Given the description of an element on the screen output the (x, y) to click on. 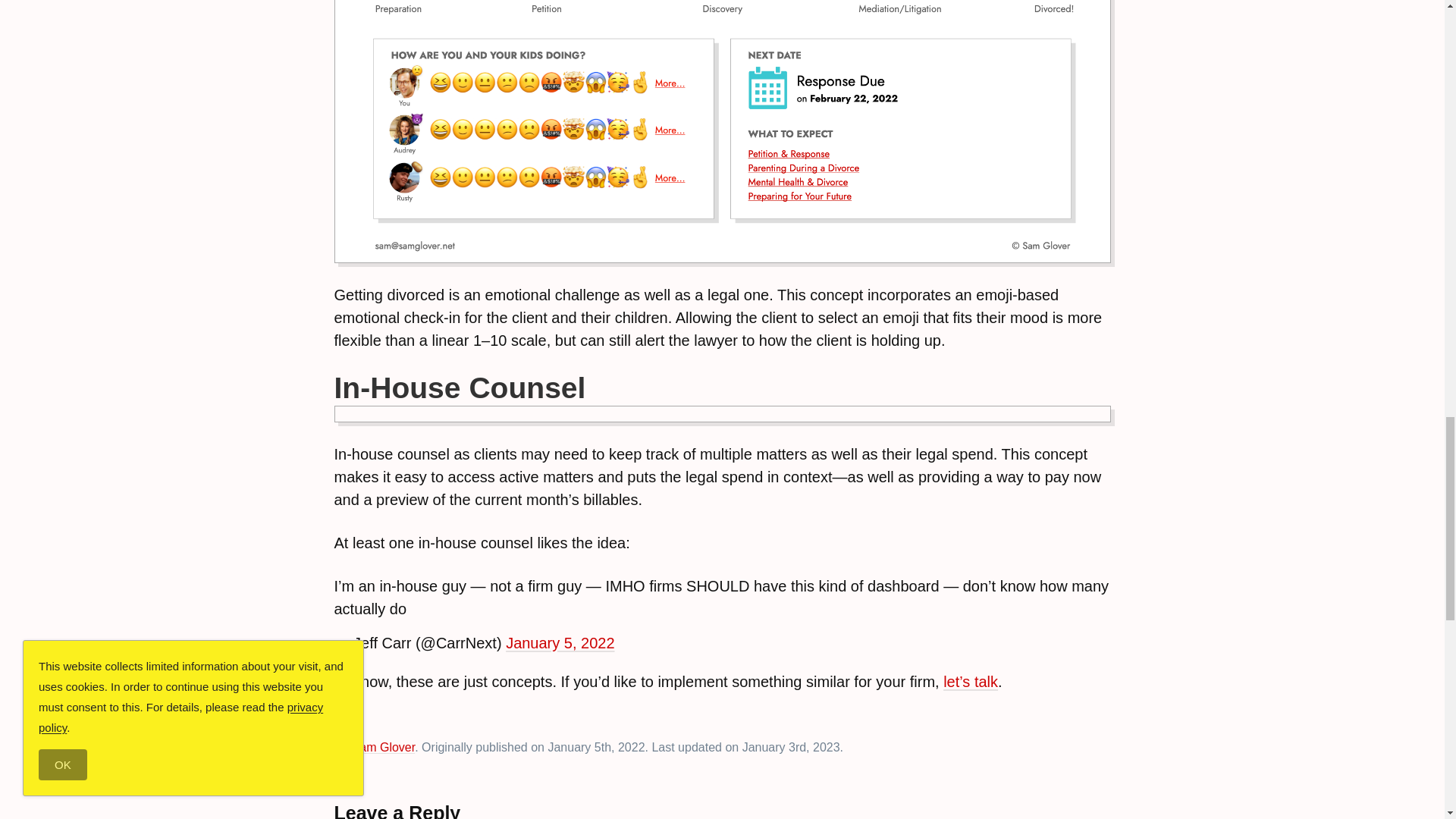
Sam Glover (383, 747)
January 5, 2022 (559, 642)
